Given the description of an element on the screen output the (x, y) to click on. 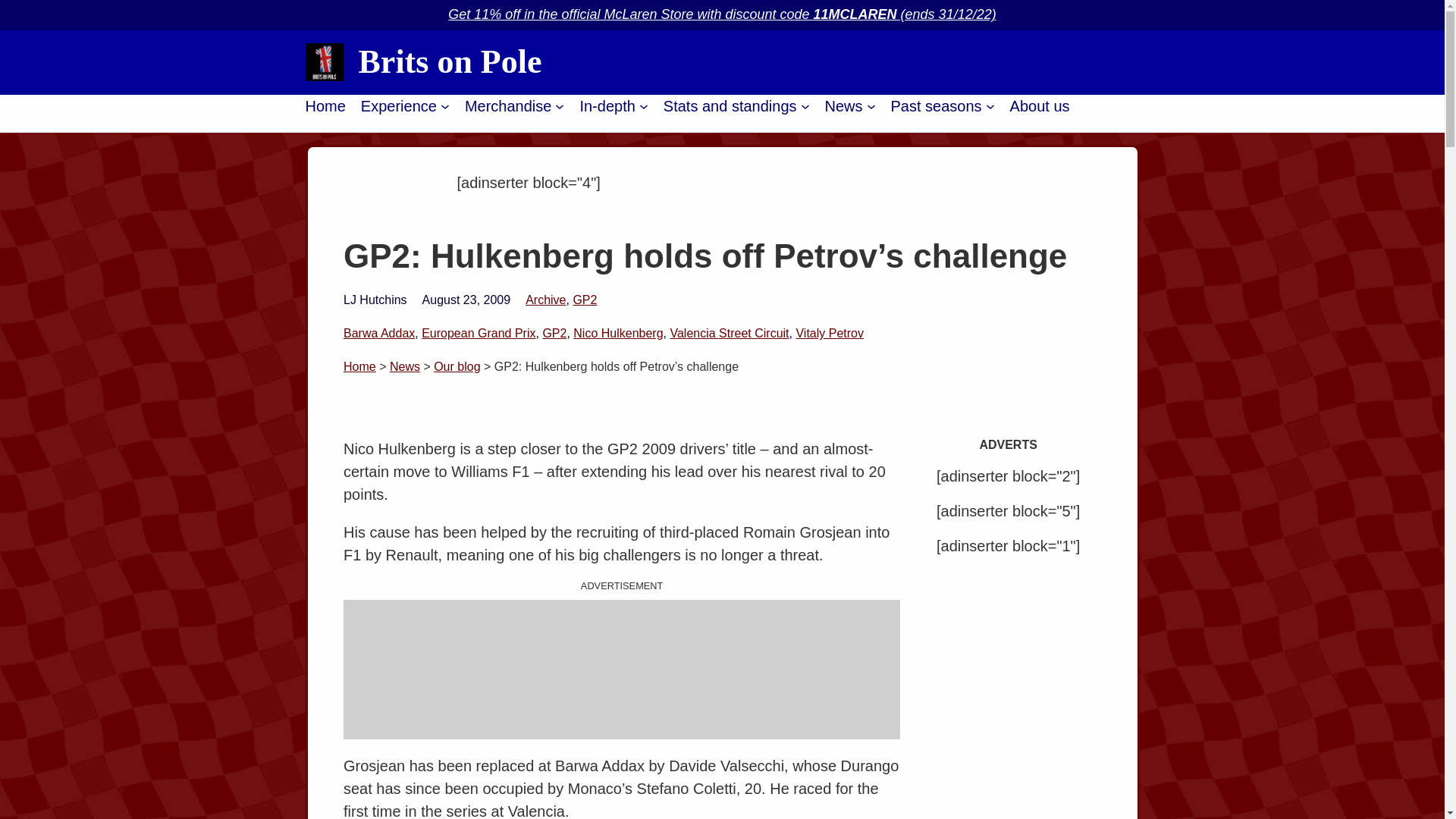
Go to News. (405, 366)
Go to Our blog. (456, 366)
Go to Brits on Pole. (359, 366)
Merchandise (507, 106)
Home (324, 106)
Brits on Pole (449, 61)
Experience (398, 106)
In-depth (606, 106)
Advertisement (621, 669)
